Given the description of an element on the screen output the (x, y) to click on. 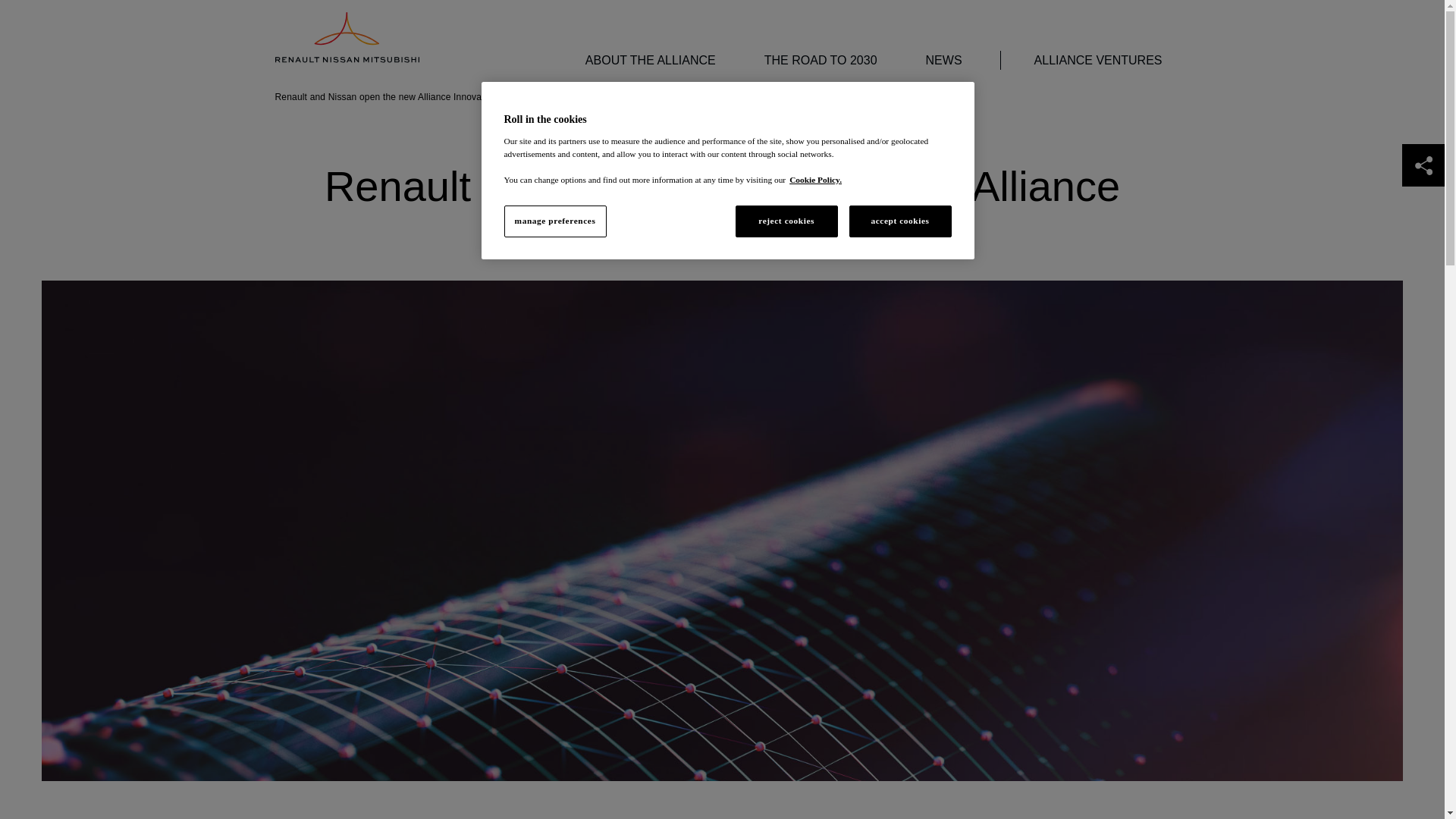
THE ROAD TO 2030 (811, 60)
Cookie Policy. (815, 179)
manage preferences (554, 221)
ABOUT THE ALLIANCE (641, 60)
ALLIANCE VENTURES (1088, 60)
reject cookies (786, 221)
accept cookies (900, 221)
NEWS (934, 60)
